Given the description of an element on the screen output the (x, y) to click on. 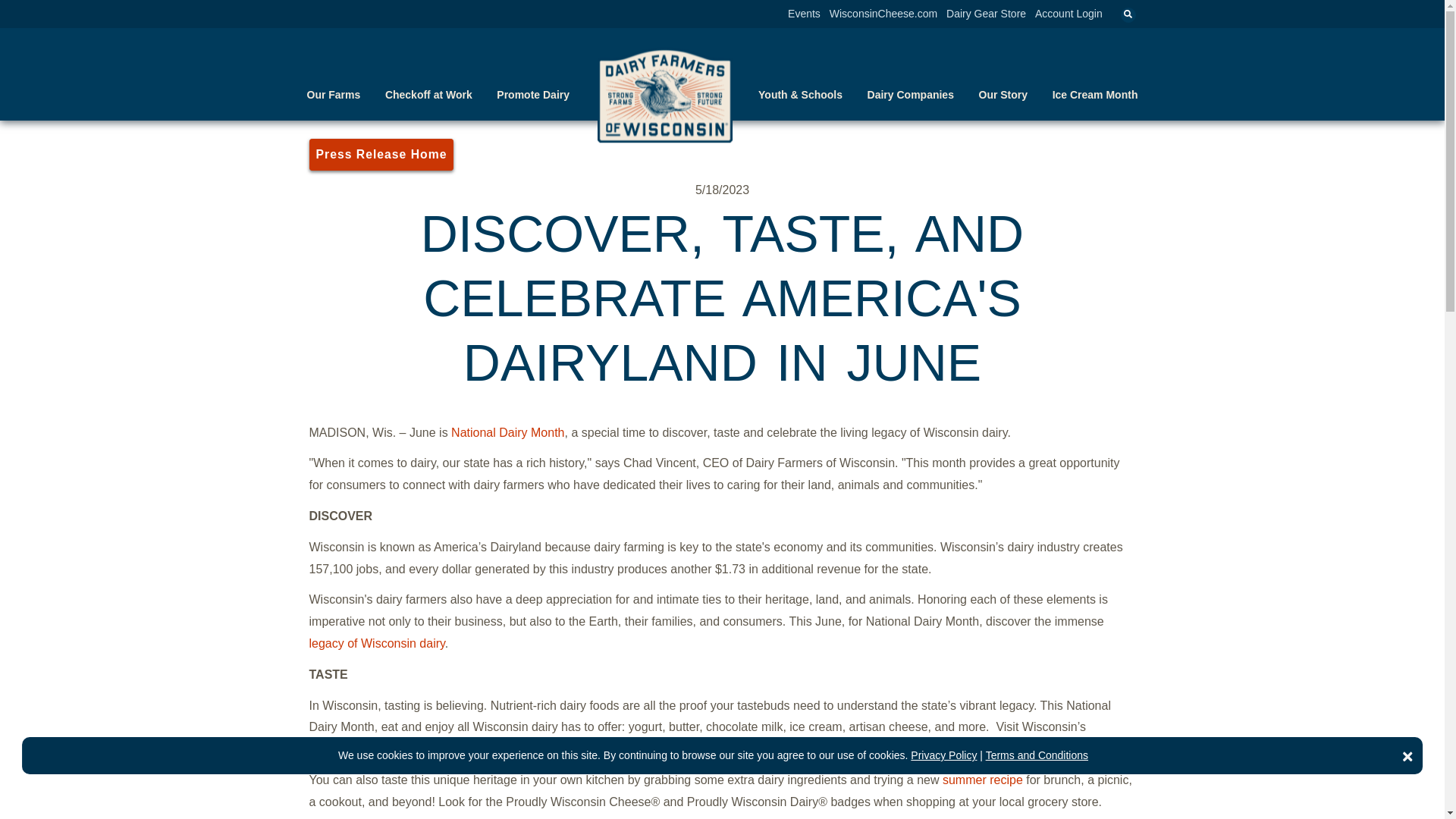
Open Search Box (1128, 14)
Checkoff at Work (428, 94)
Our Farms (332, 94)
WisconsinCheese.com (883, 13)
Events (804, 13)
Dairy Gear Store (986, 13)
Account Login (1068, 13)
Promote Dairy (532, 94)
Dairy Companies (910, 94)
Home (664, 93)
